Given the description of an element on the screen output the (x, y) to click on. 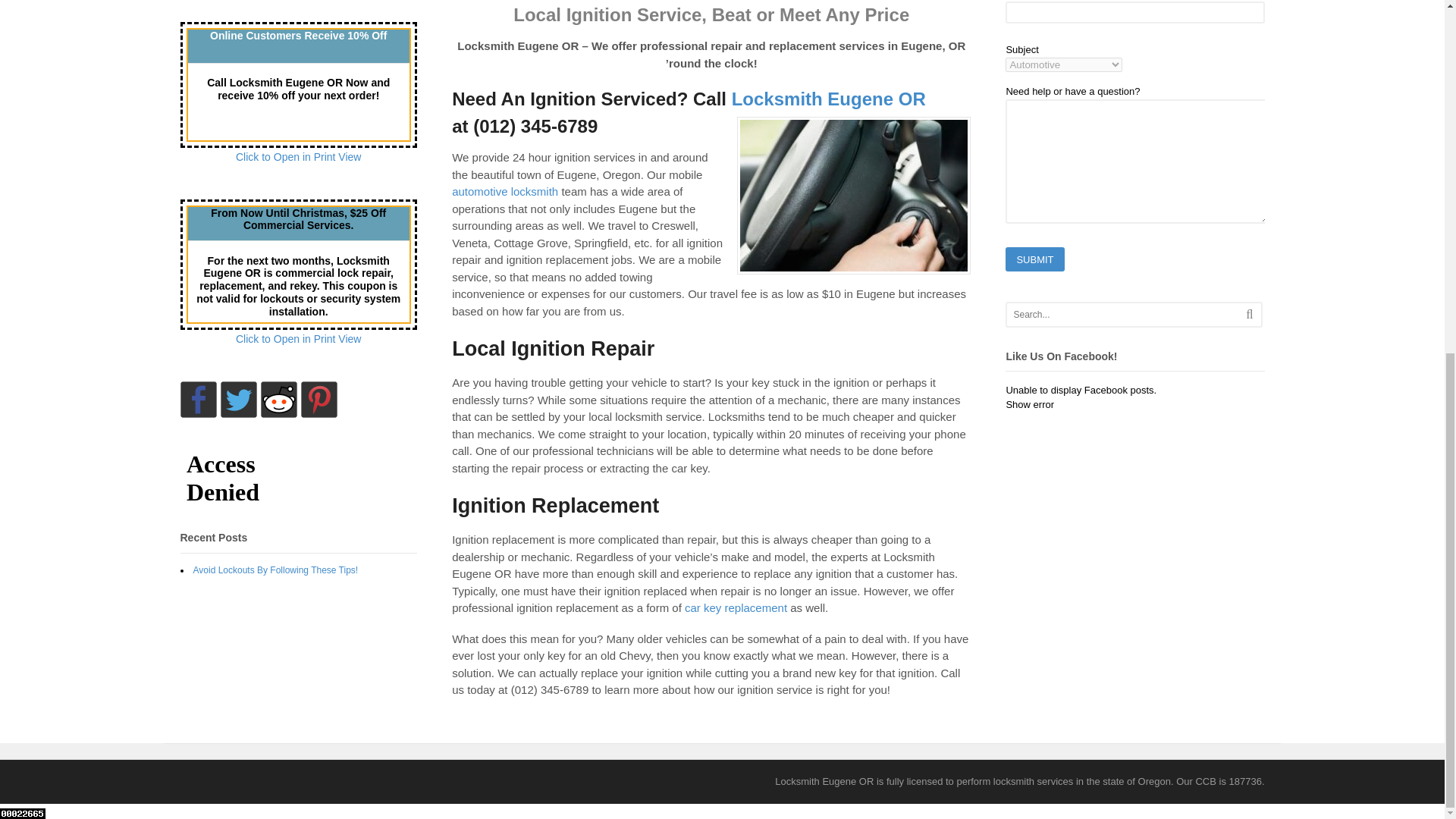
Show error (1030, 404)
Click to Open in Print View (298, 338)
Locksmith Eugene OR (829, 98)
Submit (1035, 259)
Click to Open in Print View (298, 156)
Search... (1120, 314)
car key replacement (735, 607)
Pin it with Pinterest (317, 399)
Share on Twitter (237, 399)
automotive locksmith (504, 191)
Share on Facebook (198, 399)
Submit (1035, 259)
Avoid Lockouts By Following These Tips! (275, 570)
Share on Reddit (278, 399)
